Given the description of an element on the screen output the (x, y) to click on. 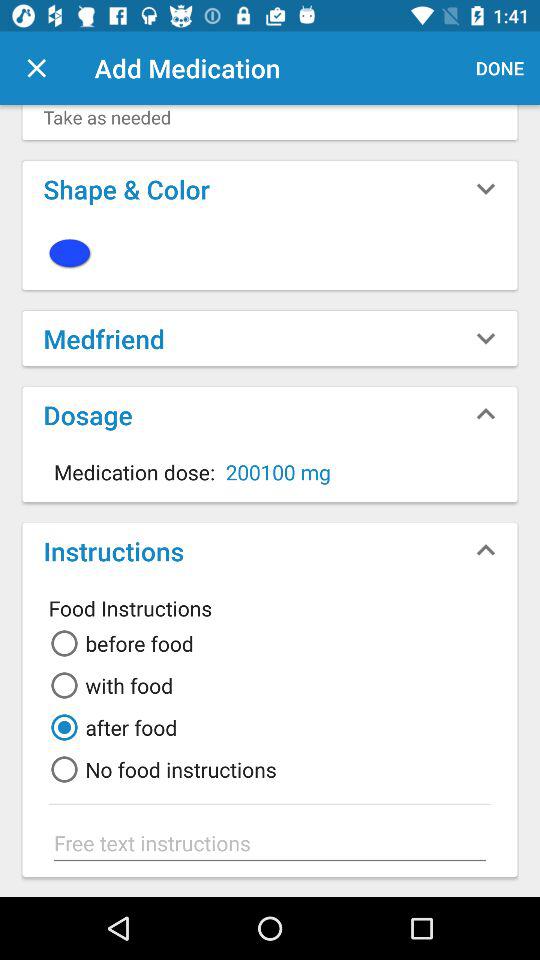
jump until the done (500, 67)
